Given the description of an element on the screen output the (x, y) to click on. 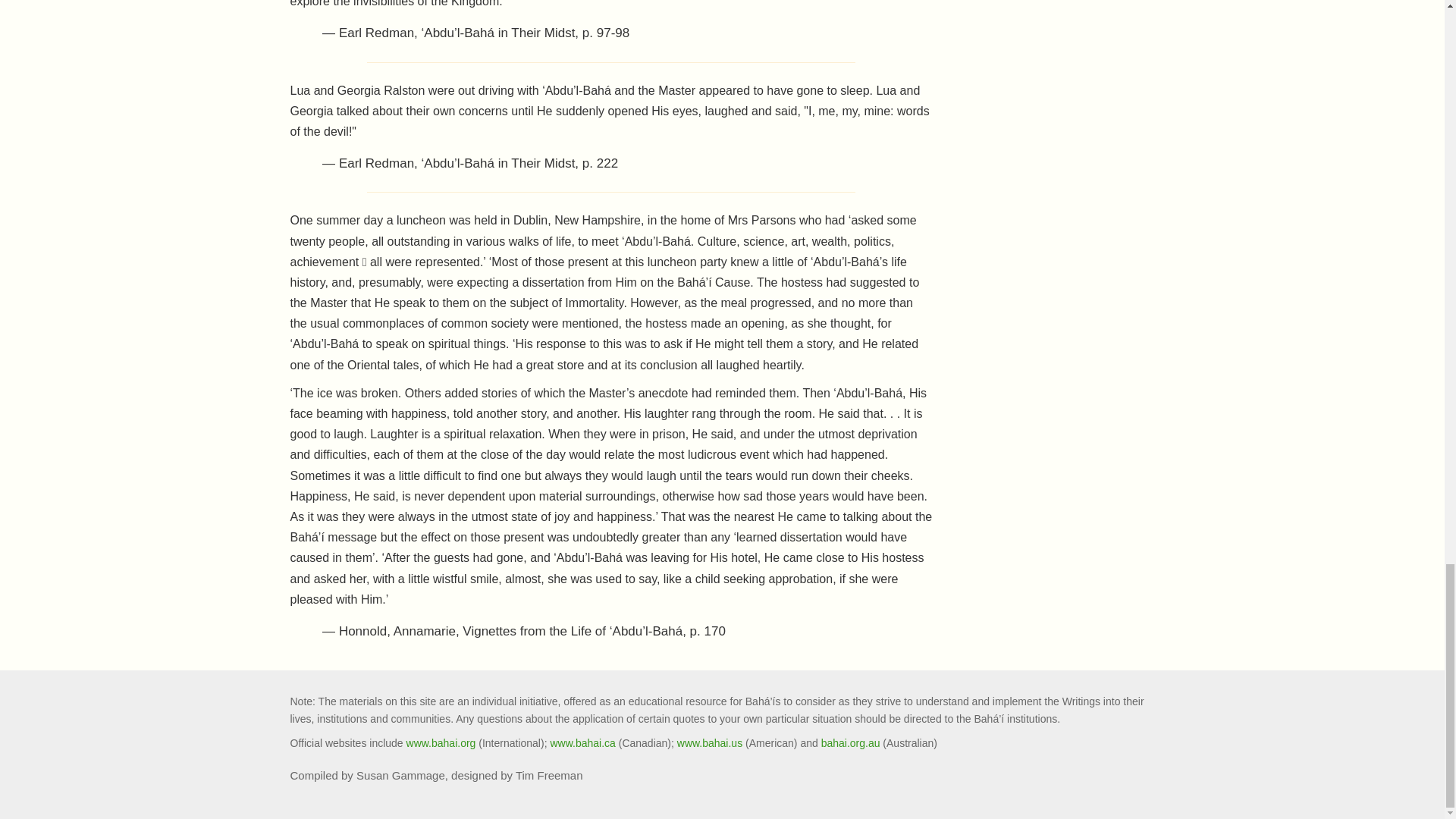
www.bahai.us (709, 743)
www.bahai.org (441, 743)
www.bahai.ca (582, 743)
bahai.org.au (850, 743)
